Given the description of an element on the screen output the (x, y) to click on. 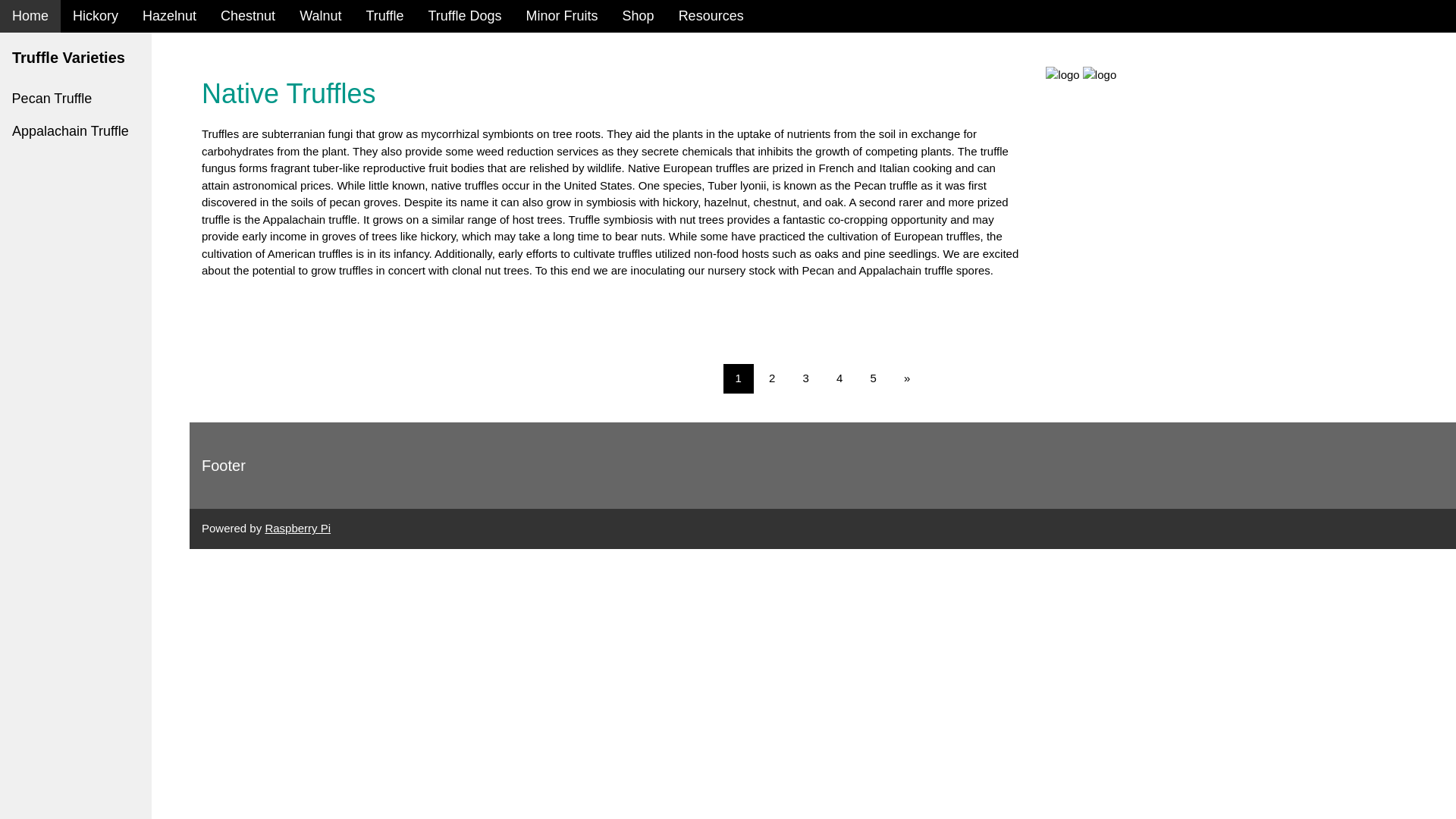
4 (839, 378)
Shop (638, 16)
Truffle Dogs (464, 16)
Hazelnut (169, 16)
Pecan Truffle (75, 98)
Raspberry Pi (297, 527)
Walnut (319, 16)
2 (772, 378)
Truffle (383, 16)
5 (873, 378)
Minor Fruits (561, 16)
Home (30, 16)
3 (805, 378)
1 (738, 378)
Appalachain Truffle (75, 131)
